Given the description of an element on the screen output the (x, y) to click on. 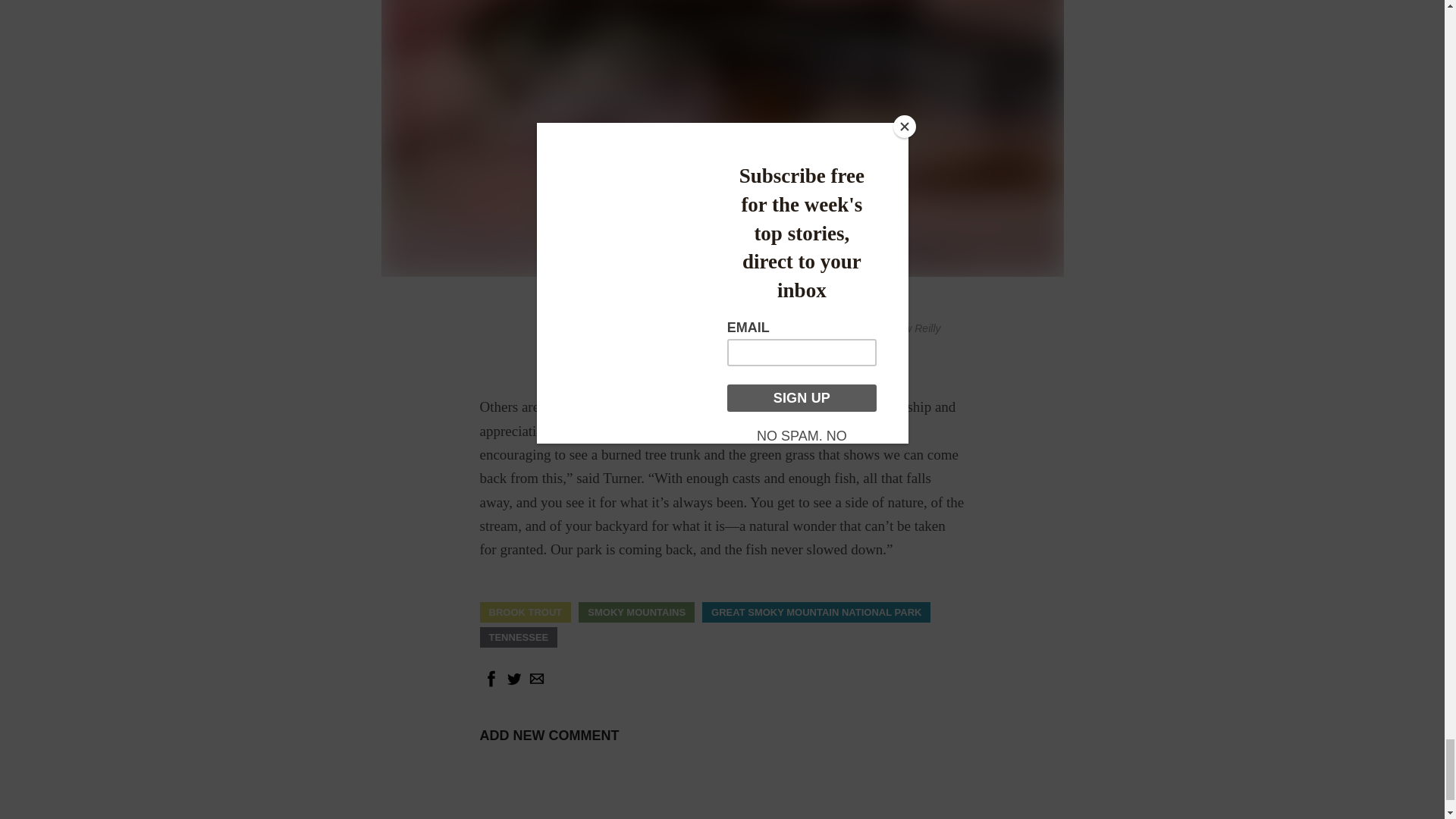
GREAT SMOKY MOUNTAIN NATIONAL PARK (816, 612)
TENNESSEE (517, 636)
SMOKY MOUNTAINS (636, 612)
BROOK TROUT (524, 612)
ADD NEW COMMENT (548, 735)
